Given the description of an element on the screen output the (x, y) to click on. 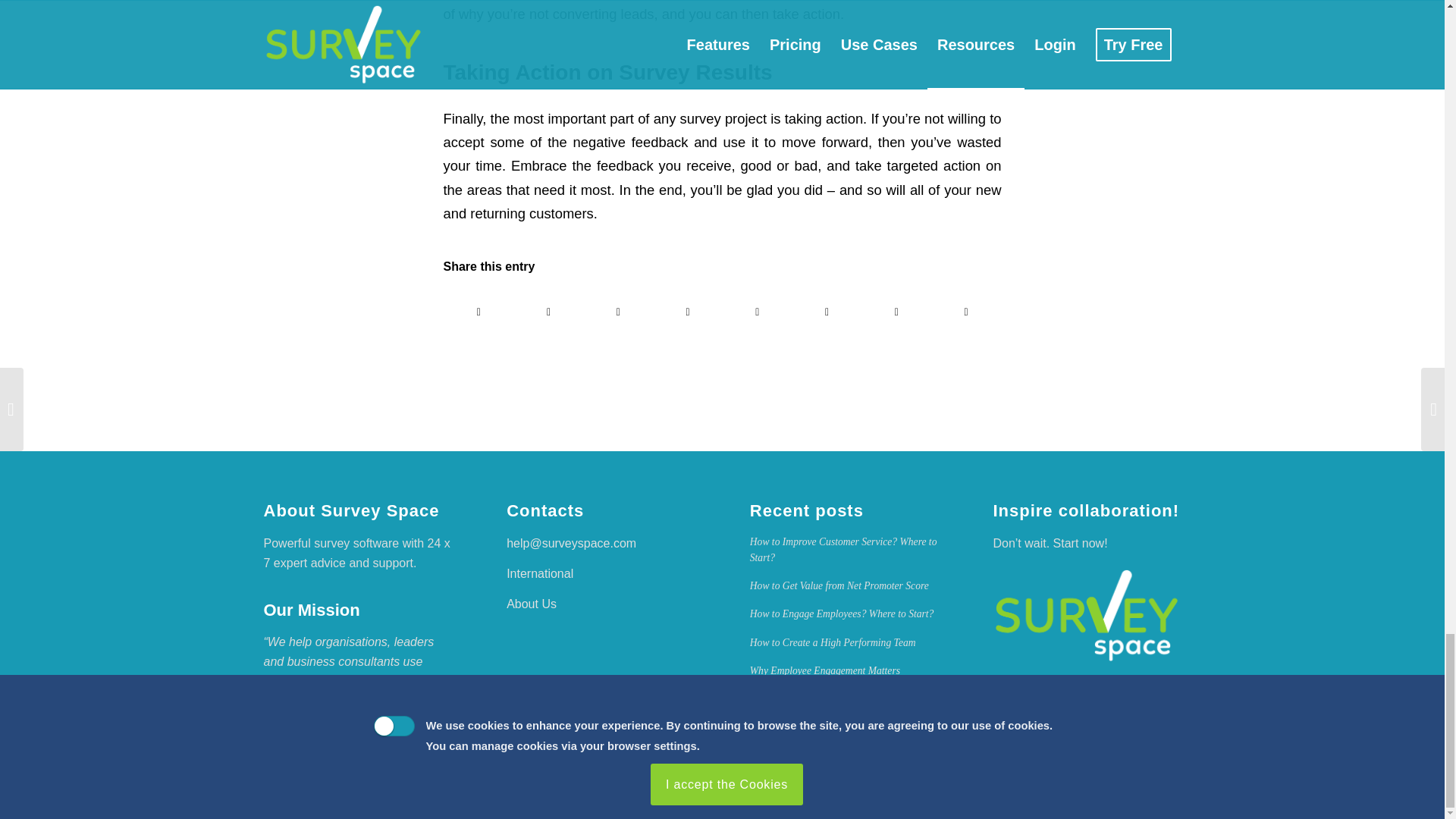
International (539, 573)
Survey Space (1086, 615)
Facebook (1162, 790)
